Given the description of an element on the screen output the (x, y) to click on. 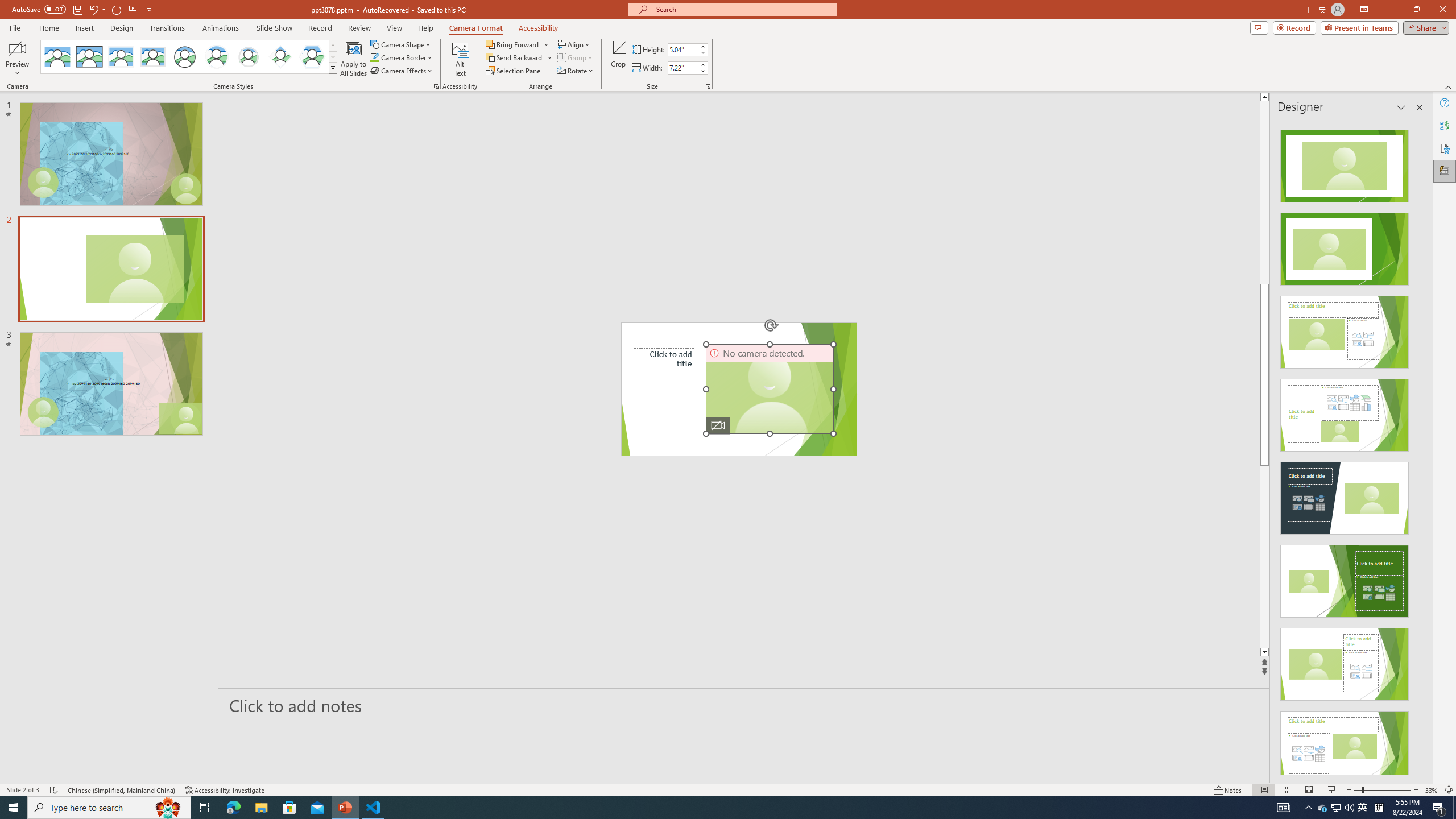
Simple Frame Rectangle (88, 56)
Center Shadow Hexagon (312, 56)
Less (702, 70)
